Given the description of an element on the screen output the (x, y) to click on. 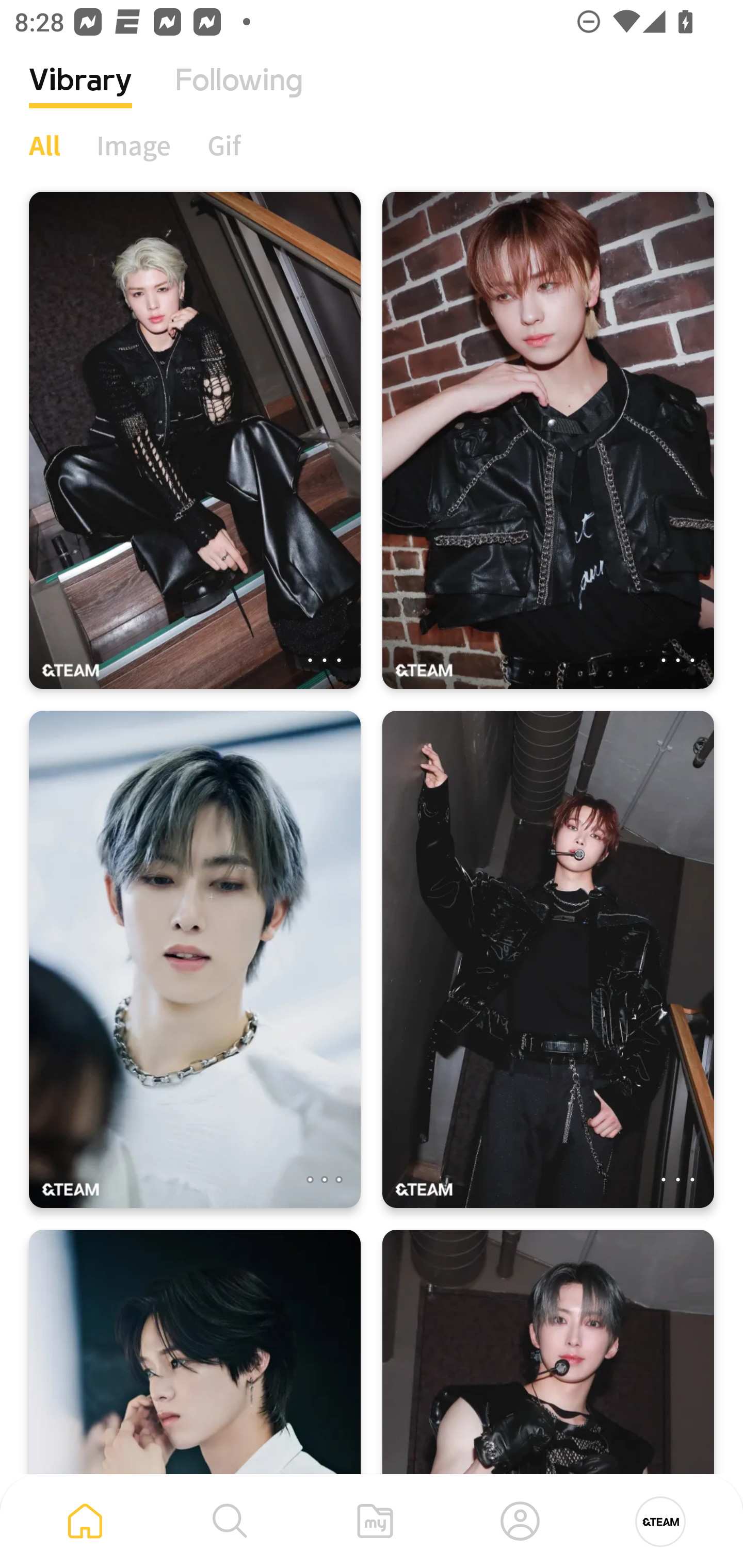
Vibrary (80, 95)
Following (239, 95)
All (44, 145)
Image (133, 145)
Gif (223, 145)
